Given the description of an element on the screen output the (x, y) to click on. 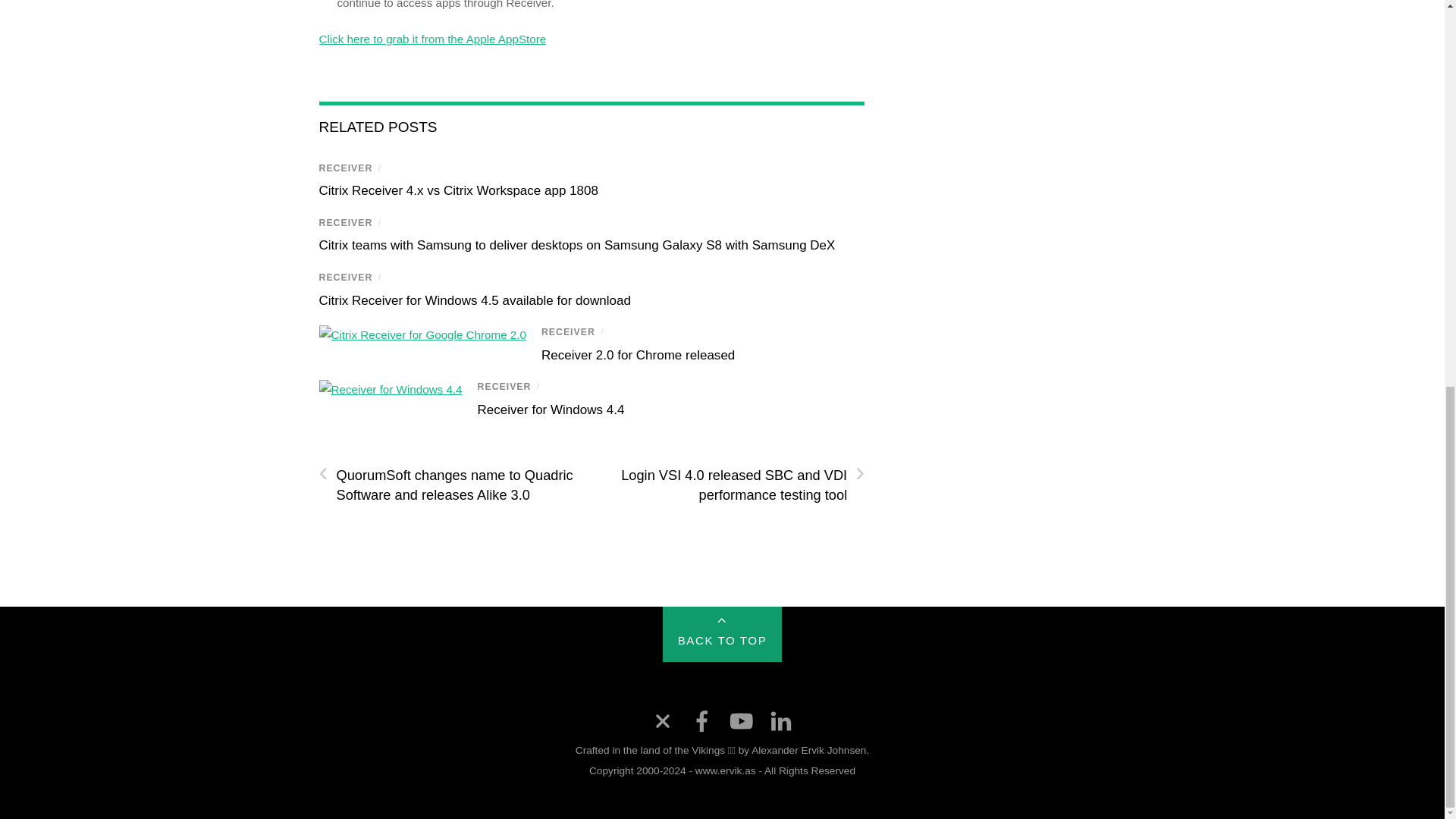
Citrix Receiver for Windows 4.5 available for download (474, 300)
Citrix Receiver for iOS 5.7.2 (432, 38)
Citrix Receiver 4.x vs Citrix Workspace app 1808 (458, 190)
Receiver 2.0 for Chrome released (638, 355)
Citrix Receiver for Google Chrome 2.0 (421, 335)
